Given the description of an element on the screen output the (x, y) to click on. 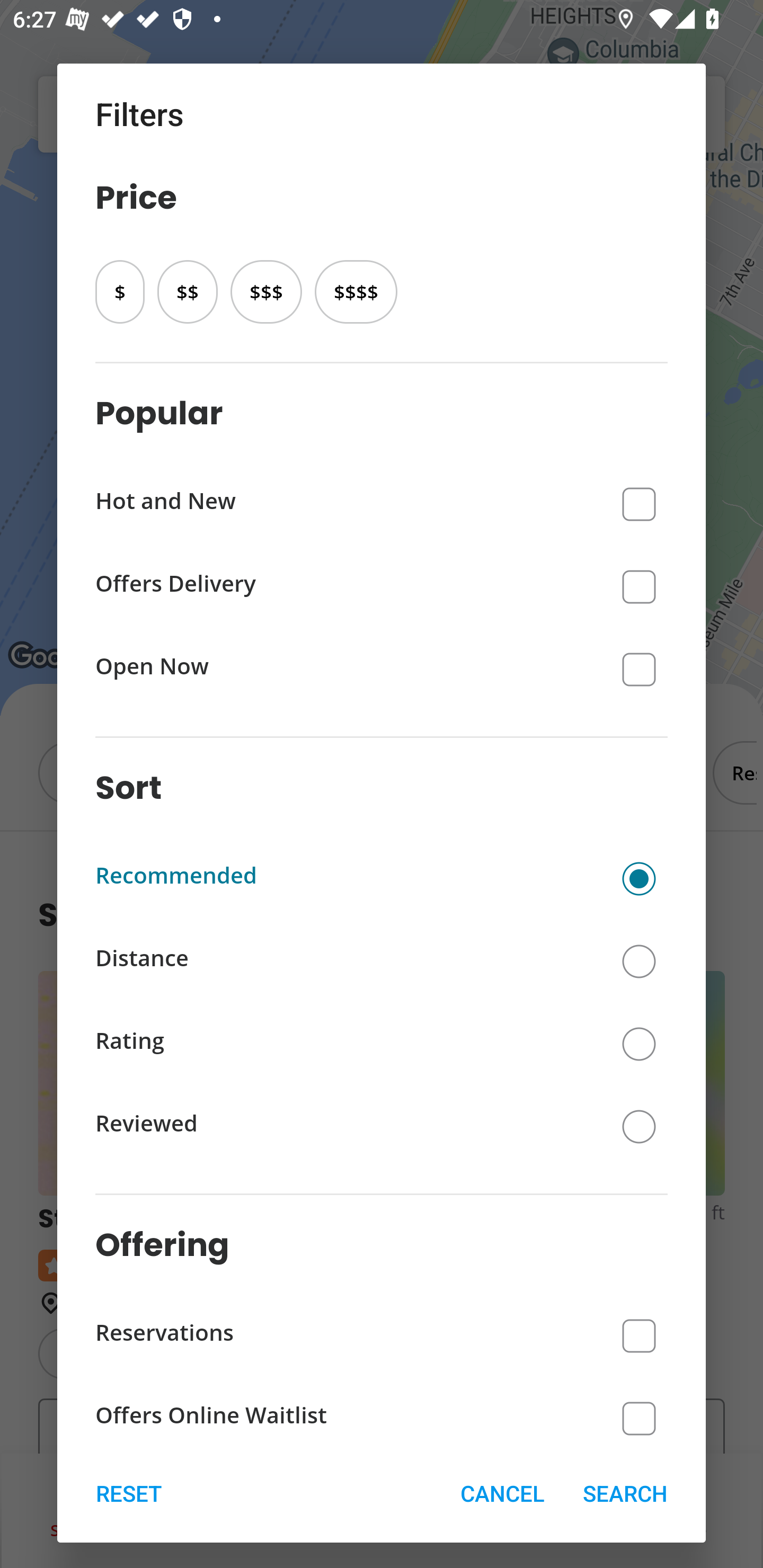
$ (119, 291)
